Given the description of an element on the screen output the (x, y) to click on. 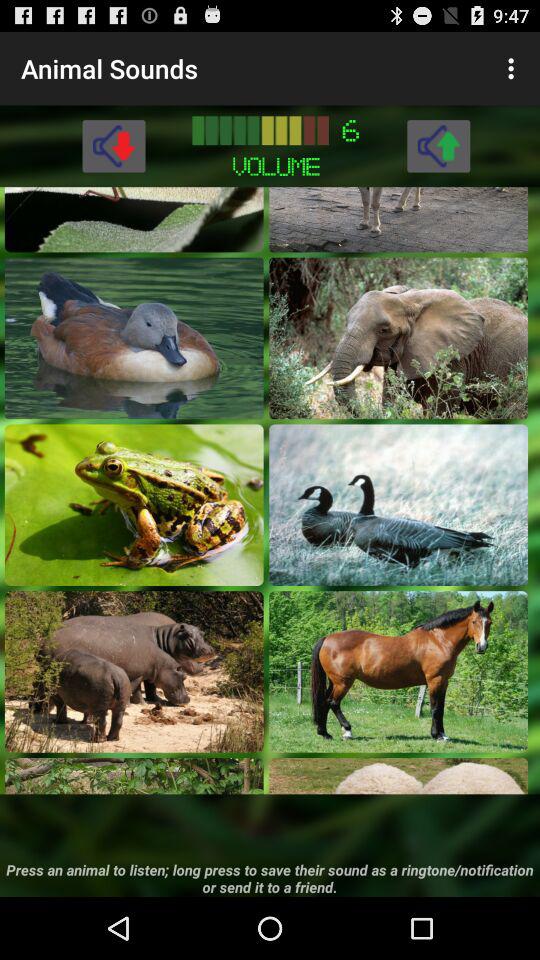
select animal (398, 504)
